Given the description of an element on the screen output the (x, y) to click on. 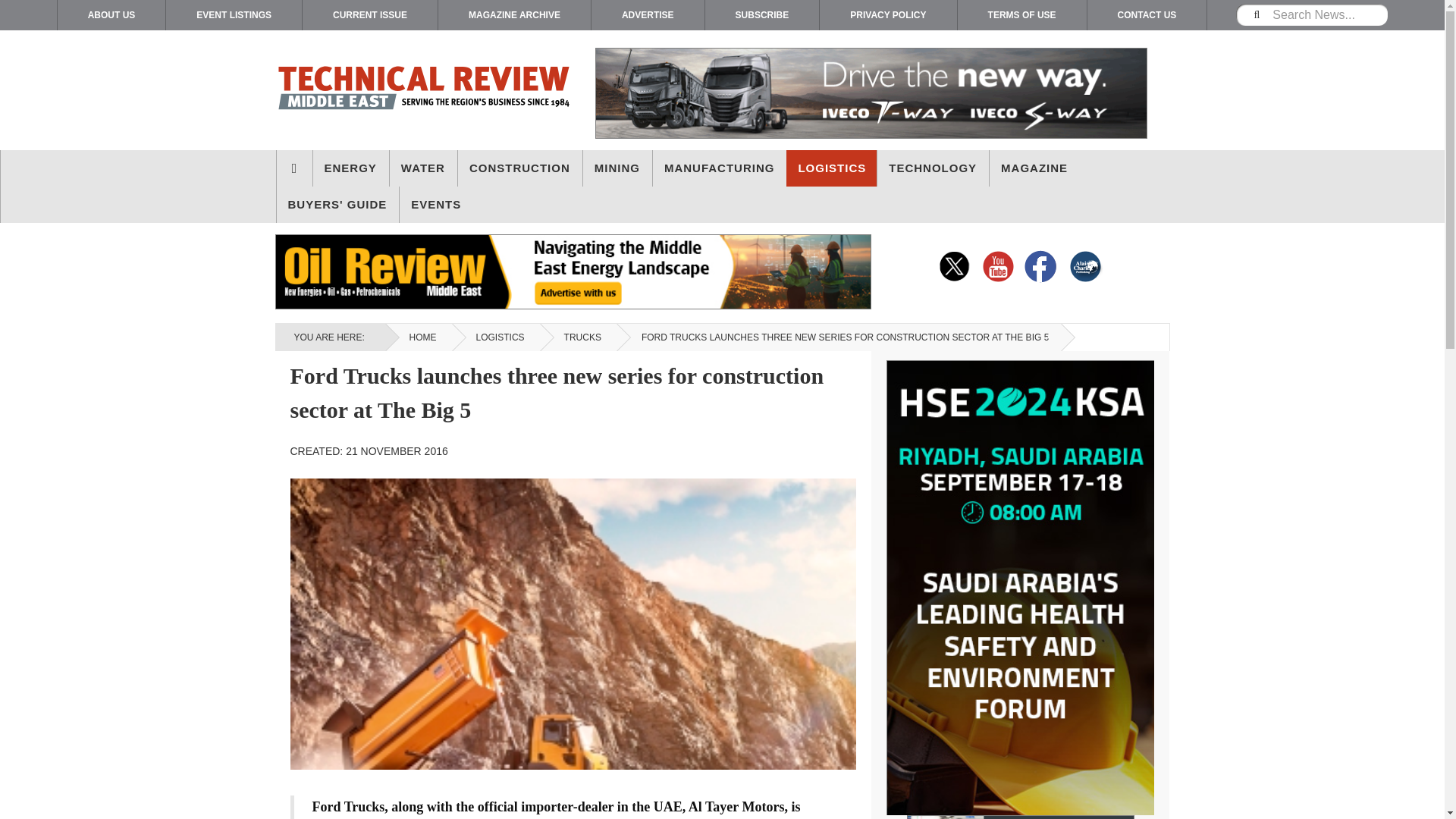
CURRENT ISSUE (370, 15)
ABOUT US (111, 15)
SUBSCRIBE (761, 15)
EVENT LISTINGS (233, 15)
HOME (293, 167)
ADVERTISE (647, 15)
Technical Review Middle East (423, 90)
ENERGY (350, 167)
MAGAZINE ARCHIVE (514, 15)
MINING (617, 167)
WATER (423, 167)
CONSTRUCTION (520, 167)
TERMS OF USE (1022, 15)
CONTACT US (1147, 15)
PRIVACY POLICY (887, 15)
